Given the description of an element on the screen output the (x, y) to click on. 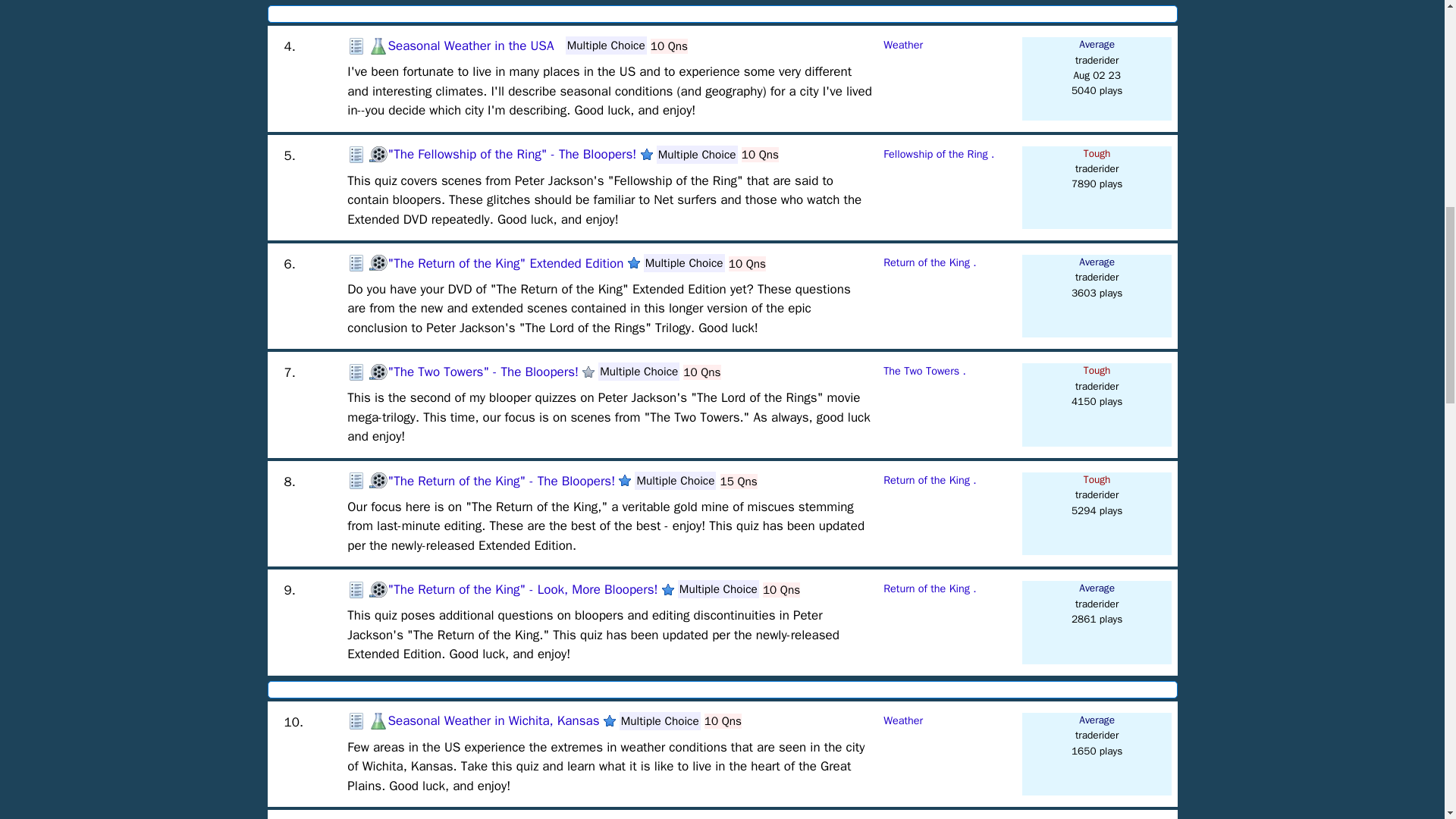
A well rated quiz (668, 589)
A well rated quiz (609, 720)
A well rated quiz (646, 154)
A well rated quiz (633, 263)
A well rated quiz (624, 480)
